Given the description of an element on the screen output the (x, y) to click on. 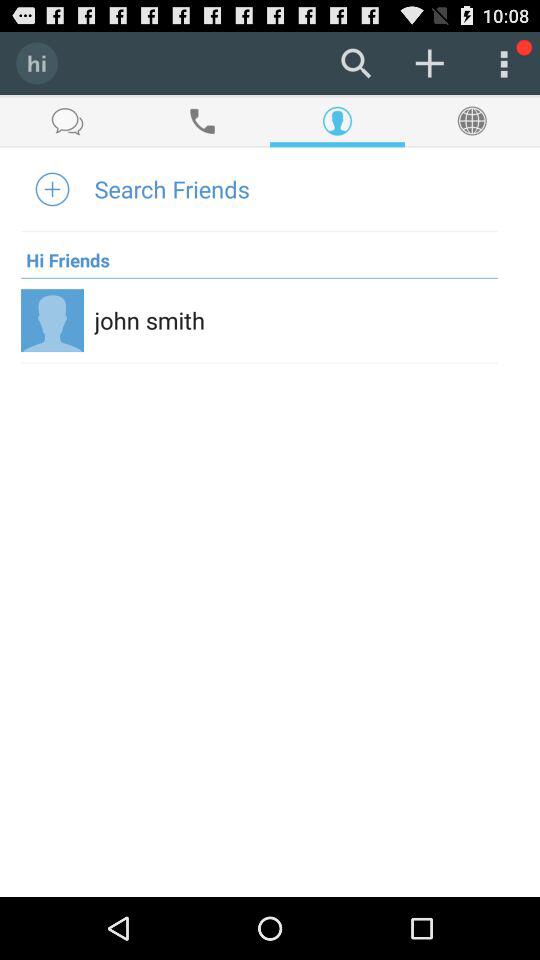
turn off hi friends (65, 254)
